Given the description of an element on the screen output the (x, y) to click on. 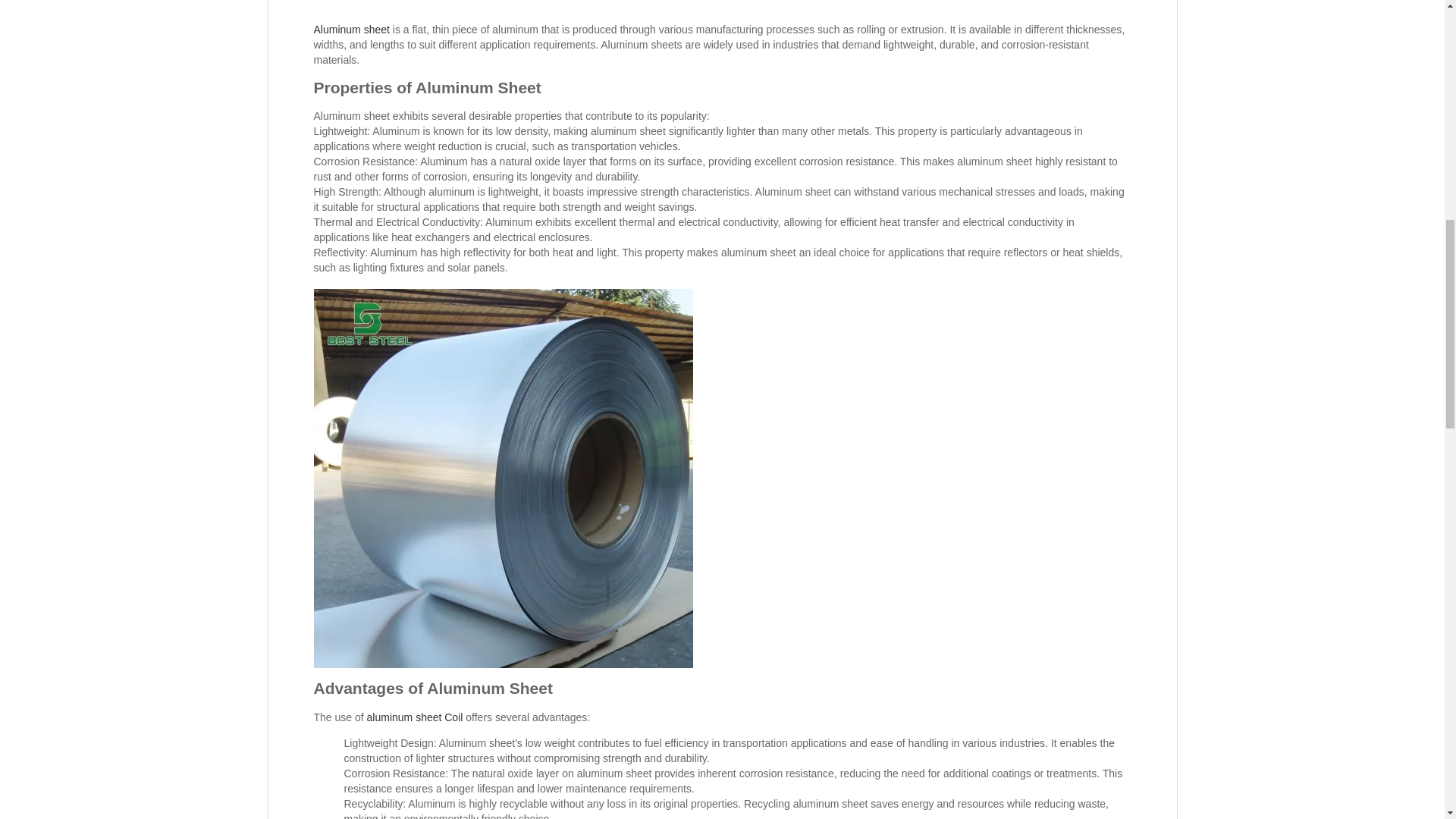
aluminum sheet Coil (414, 717)
Aluminum sheet (352, 29)
